Given the description of an element on the screen output the (x, y) to click on. 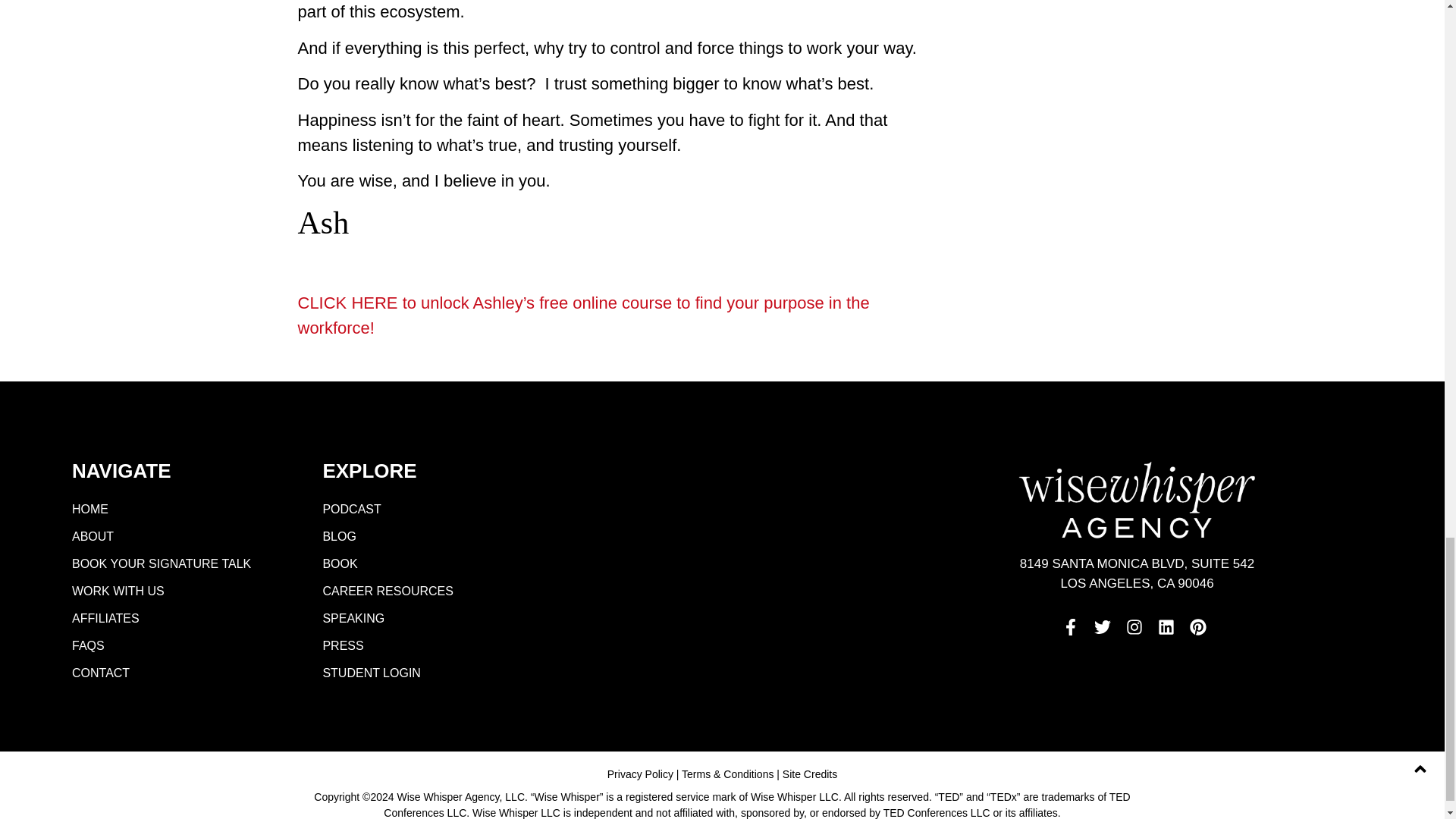
WORK WITH US (176, 591)
BOOK YOUR SIGNATURE TALK (176, 564)
FAQS (176, 646)
ABOUT (176, 536)
AFFILIATES (176, 618)
HOME (176, 509)
